Given the description of an element on the screen output the (x, y) to click on. 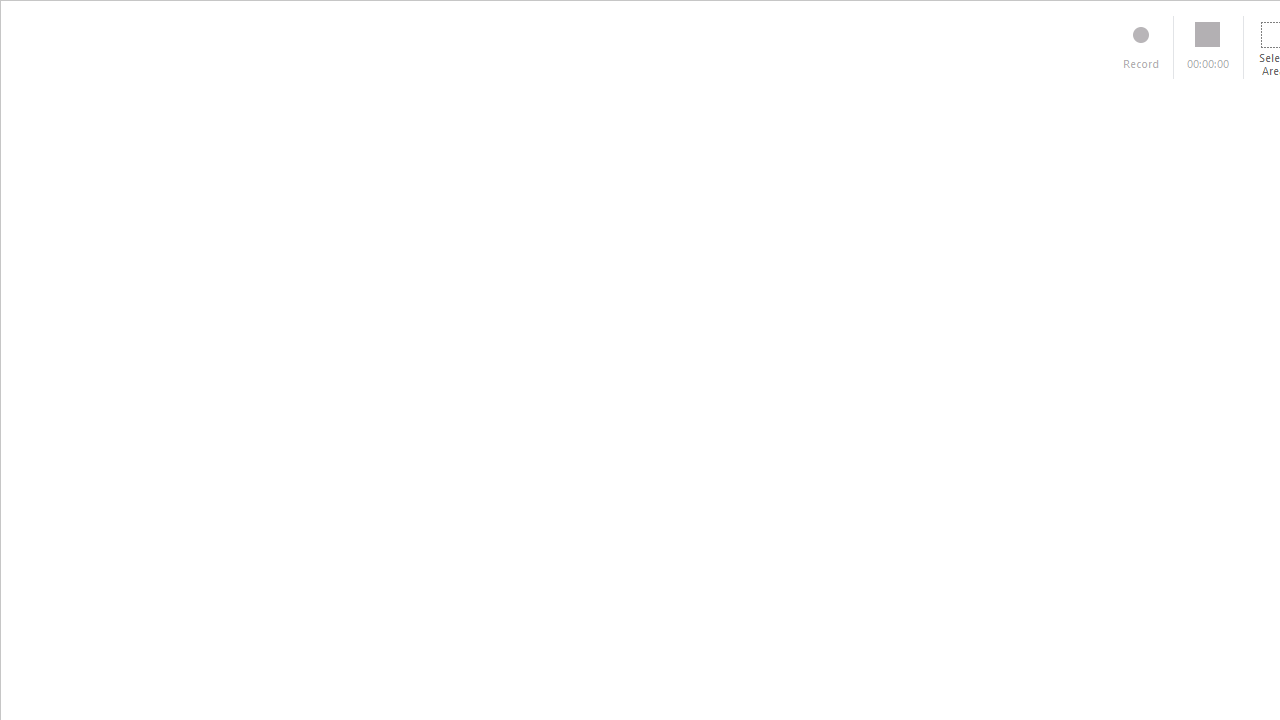
00:00:00 (1207, 47)
